Given the description of an element on the screen output the (x, y) to click on. 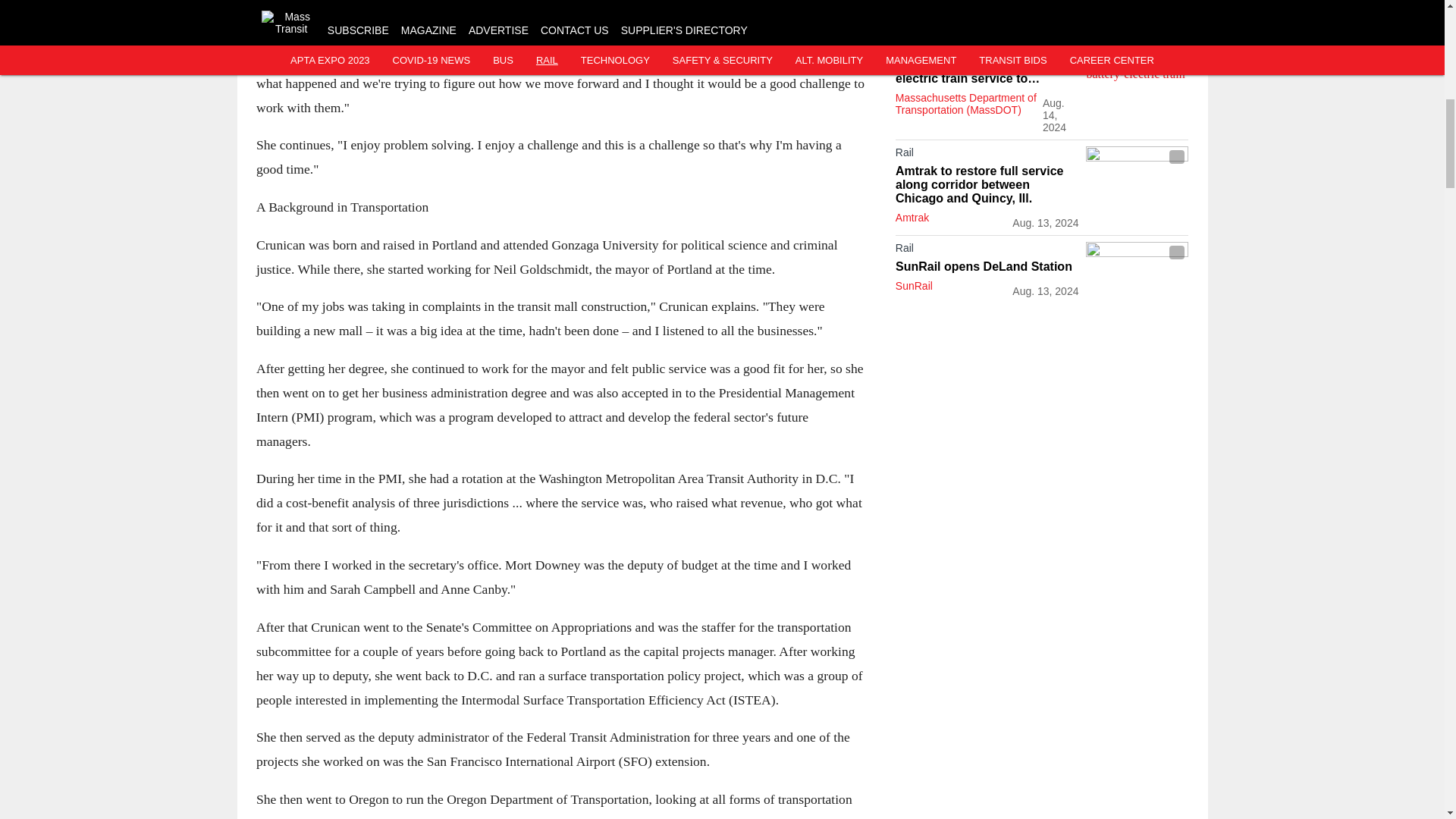
LATEST IN RAIL (940, 5)
SunRail (914, 285)
Rail (986, 250)
Amtrak (911, 217)
SunRail opens DeLand Station (986, 266)
Vehicles (986, 35)
Rail (986, 155)
